Given the description of an element on the screen output the (x, y) to click on. 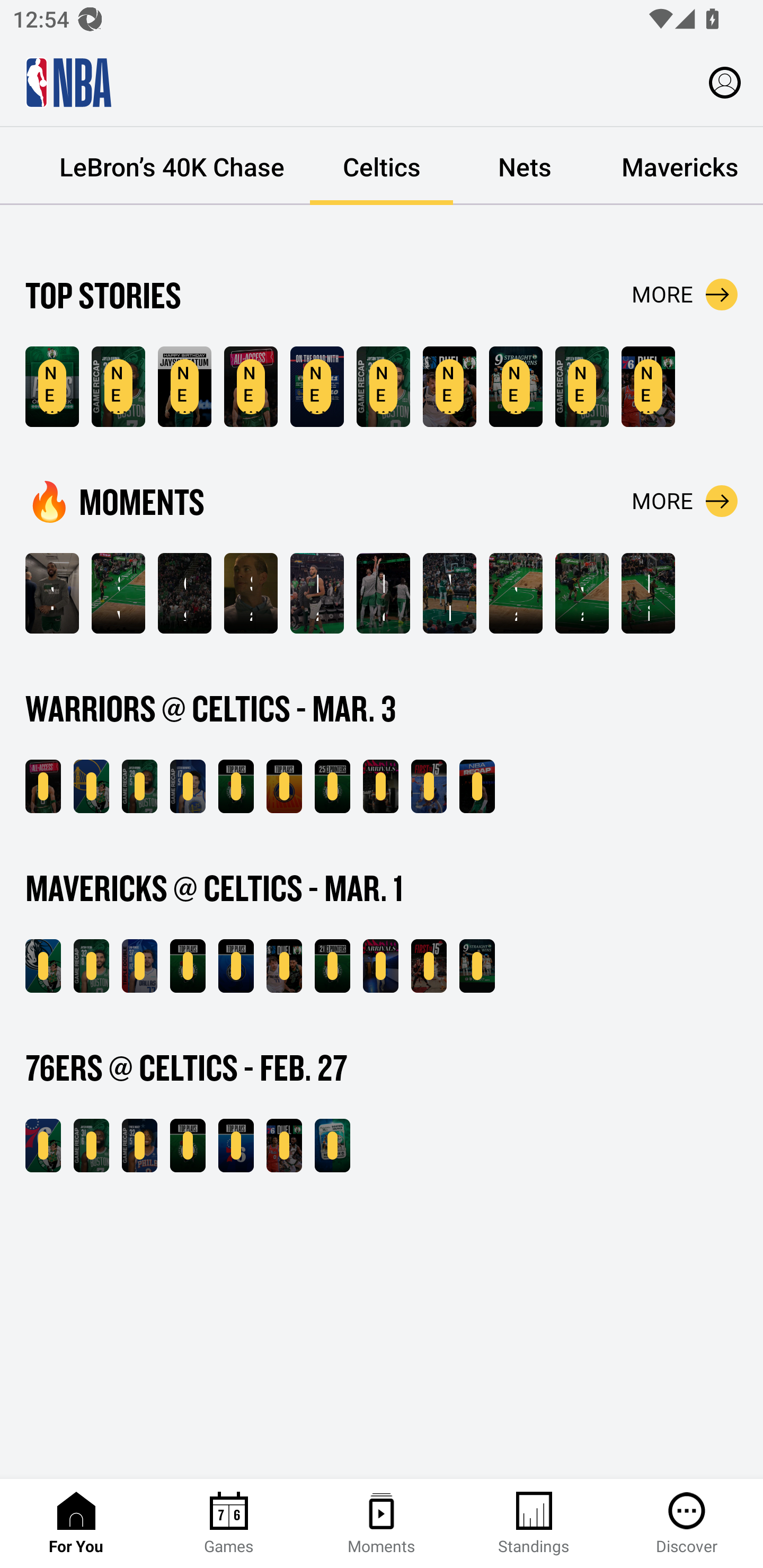
Profile (724, 81)
LeBron’s 40K Chase (171, 166)
Nets (524, 166)
Mavericks (679, 166)
MORE (684, 294)
NEW BOS' Top Plays of Week 19 (51, 386)
NEW Highlights From Jaylen Brown's 29-Point Game (117, 386)
NEW Happy Birthday Jayson Tatum! 🎉 (184, 386)
NEW Warriors And Celtics Clash At TD Garden 🍀 (250, 386)
NEW On The Road With Hotels.com (317, 386)
Highlights From Jayson Tatum's 32-Point Game NEW (383, 386)
Luka & Tatum Go Toe-To-Toe NEW (449, 386)
Highlights From Jaylen Brown's 31-Point Game NEW (581, 386)
Maxey & Brown Show Out In Faceoff NEW (648, 386)
MORE (684, 500)
JT Sounds Off On The Birthday Win 🥳 (51, 593)
Svi Mykhailiuk from deep! (117, 593)
Oshae Brissett throws it down (184, 593)
Sam Hauser hits from way downtown (250, 593)
Happy 26th Birthday To Jayson Tatum! 🍀 (317, 593)
Deuce's Dad 💚 (383, 593)
White Finds JB On The Backdoor Cut For The Jam 💥 (449, 593)
Jaylen Brown with the feed (515, 593)
Jaylen Brown with the slam (581, 593)
Nice dish from Jayson Tatum (648, 593)
NEW Warriors And Celtics Clash At TD Garden 🍀 (43, 785)
NEW BOS 140, GSW 88 - Mar 3 (91, 785)
NEW Highlights From Jaylen Brown's 29-Point Game (139, 785)
NEW Highlights From Lester Quinones' 17-Point Game (187, 785)
NEW BOS' Top Plays from GSW vs. BOS (236, 785)
GSW's Top Plays from GSW vs. BOS NEW (284, 785)
All 3-pointers from BOS' 25 3-pointer Night NEW (332, 785)
Steppin' Into Sunday 🔥 NEW (380, 785)
First To 15, Mar. 3rd NEW (428, 785)
Sunday's Recap NEW (477, 785)
NEW BOS 138, DAL 110 - Mar 1 (43, 965)
NEW Highlights From Jayson Tatum's 32-Point Game (91, 965)
NEW Highlights from Luka Doncic's Triple-Double (139, 965)
NEW BOS' Top Plays from DAL vs. BOS (187, 965)
NEW DAL's Top Plays from DAL vs. BOS (236, 965)
Luka & Tatum Go Toe-To-Toe NEW (284, 965)
All 3's from BOS' 21 3-Pointer Night NEW (332, 965)
Which Fit From Friday Would You Rock? 🤔 NEW (380, 965)
First To 15: Mar. 1st NEW (428, 965)
NEW BOS 117, PHI 99 - Feb 27 (43, 1145)
NEW Highlights From Jaylen Brown's 31-Point Game (91, 1145)
NEW Highlights From Tyrese Maxey's 32-Point Game (139, 1145)
NEW BOS's Top Plays from PHI vs. BOS (187, 1145)
NEW PHI's Top Plays from PHI vs. BOS (236, 1145)
Maxey & Brown Show Out In Faceoff NEW (284, 1145)
Eastern Conference Clash: 76ers Vs. Celtics ⚔️ NEW (332, 1145)
Games (228, 1523)
Moments (381, 1523)
Standings (533, 1523)
Discover (686, 1523)
